Given the description of an element on the screen output the (x, y) to click on. 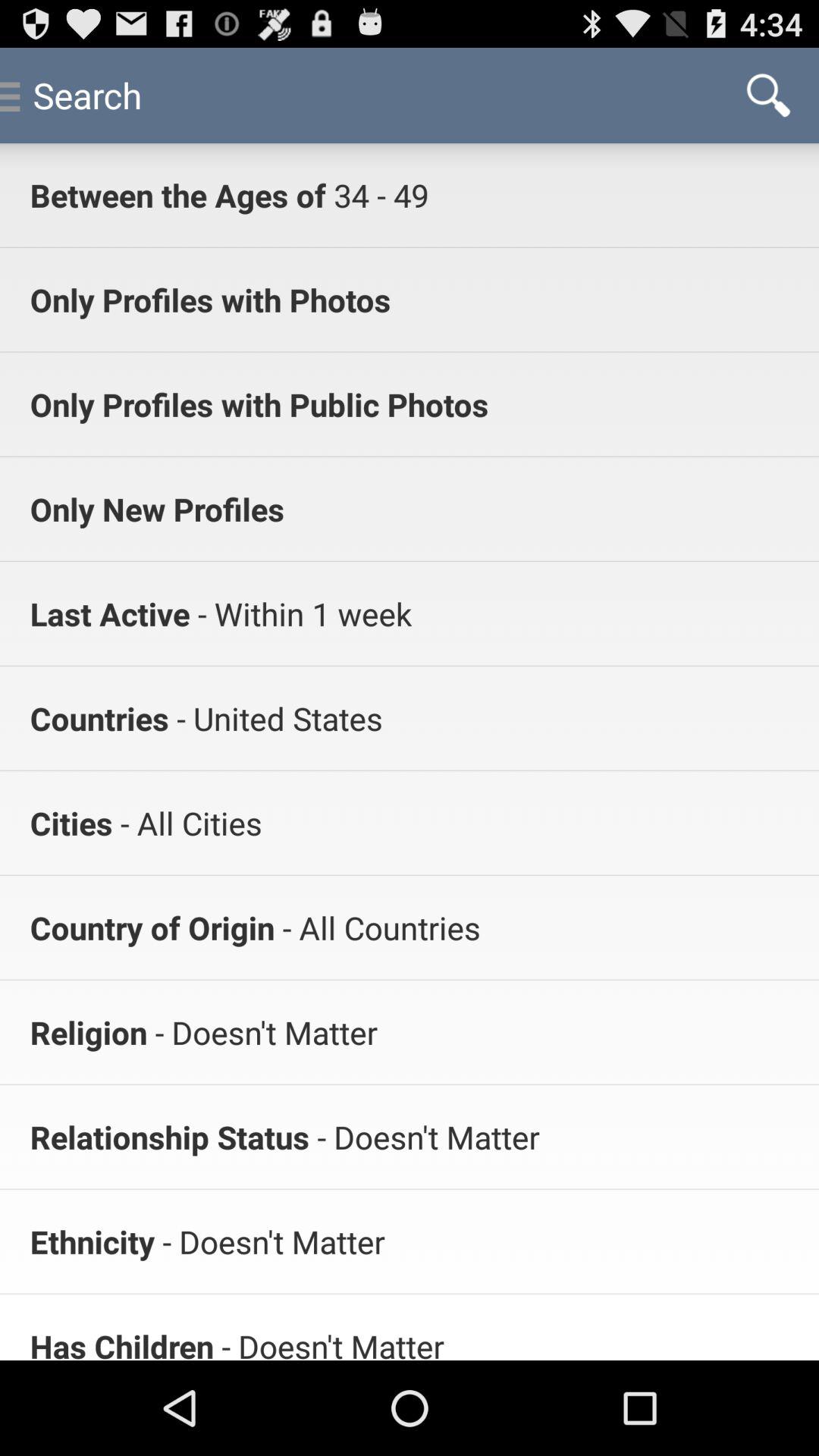
choose the app to the right of between the ages icon (376, 194)
